Given the description of an element on the screen output the (x, y) to click on. 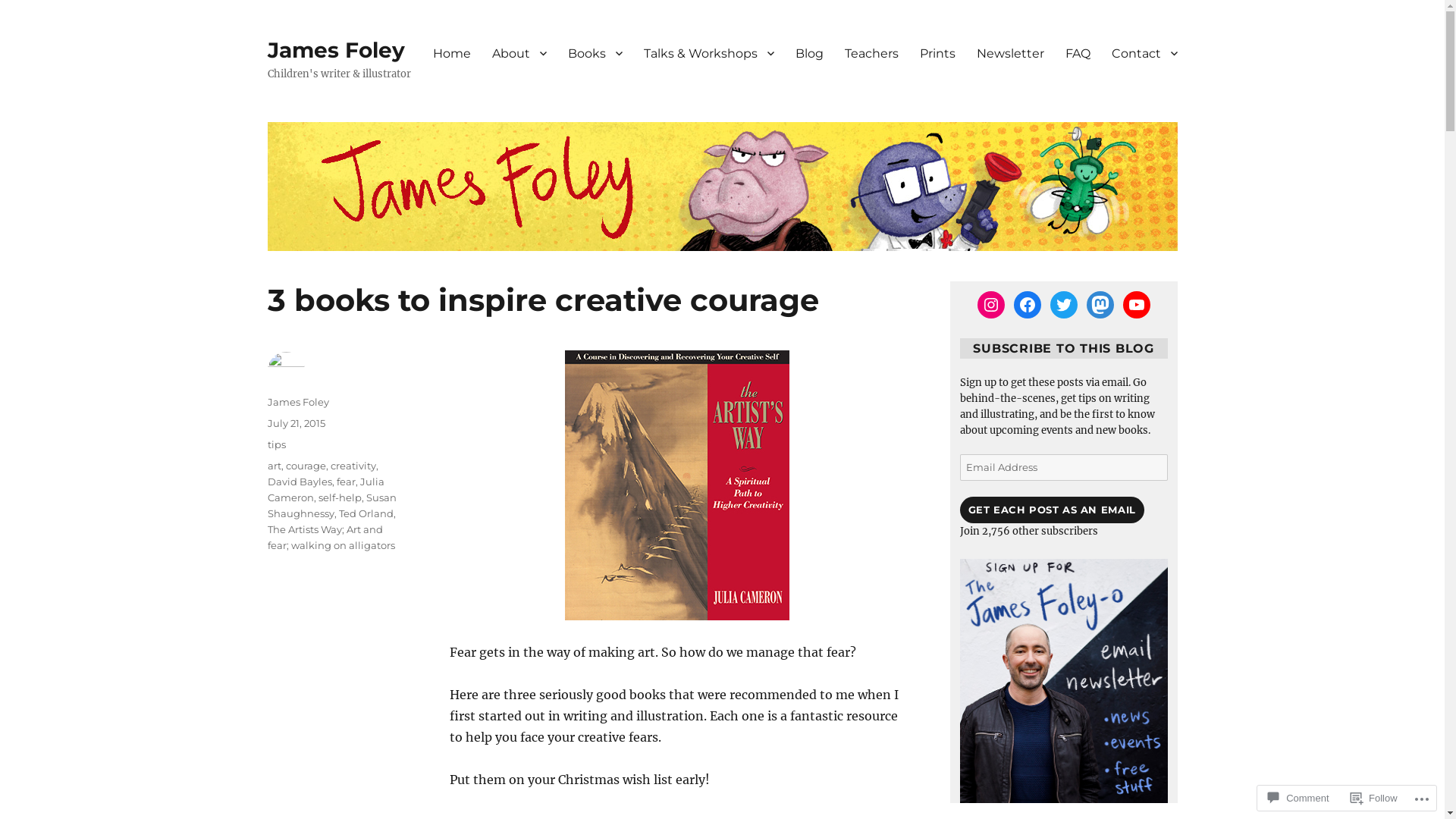
James Foley Element type: text (297, 401)
July 21, 2015 Element type: text (295, 423)
courage Element type: text (305, 465)
creativity Element type: text (353, 465)
Prints Element type: text (936, 53)
Contact Element type: text (1144, 53)
FAQ Element type: text (1077, 53)
fear Element type: text (345, 481)
Comment Element type: text (1297, 797)
Follow Element type: text (1373, 797)
art Element type: text (273, 465)
Home Element type: text (450, 53)
Newsletter Element type: text (1010, 53)
The Artists Way; Art and fear; walking on alligators Element type: text (330, 537)
GET EACH POST AS AN EMAIL Element type: text (1052, 509)
About Element type: text (518, 53)
Julia Cameron Element type: text (324, 489)
David Bayles Element type: text (298, 481)
James Foley Element type: text (335, 49)
tips Element type: text (275, 444)
Books Element type: text (594, 53)
Ted Orland Element type: text (365, 513)
Blog Element type: text (808, 53)
self-help Element type: text (339, 497)
Teachers Element type: text (871, 53)
Talks & Workshops Element type: text (708, 53)
Susan Shaughnessy Element type: text (330, 505)
